Given the description of an element on the screen output the (x, y) to click on. 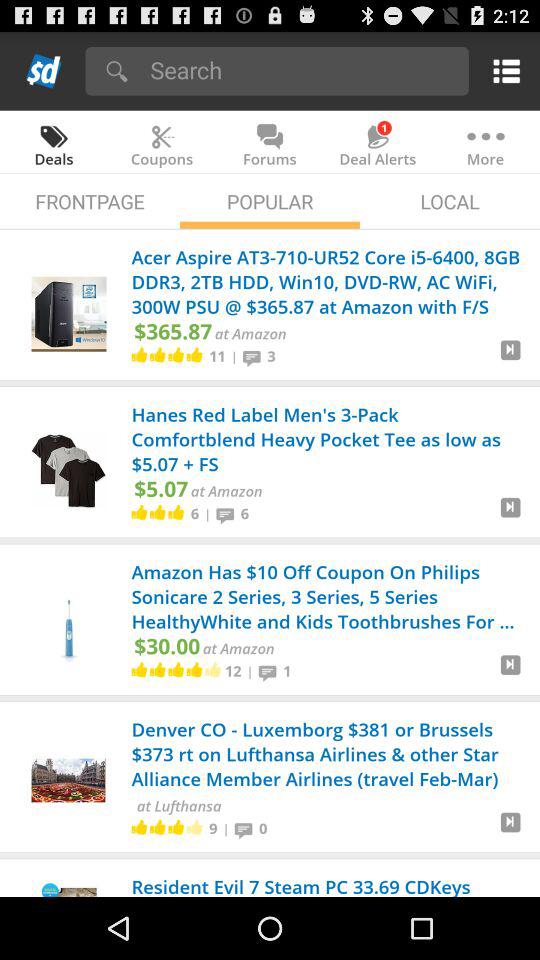
tap the app below the at amazon app (232, 670)
